Given the description of an element on the screen output the (x, y) to click on. 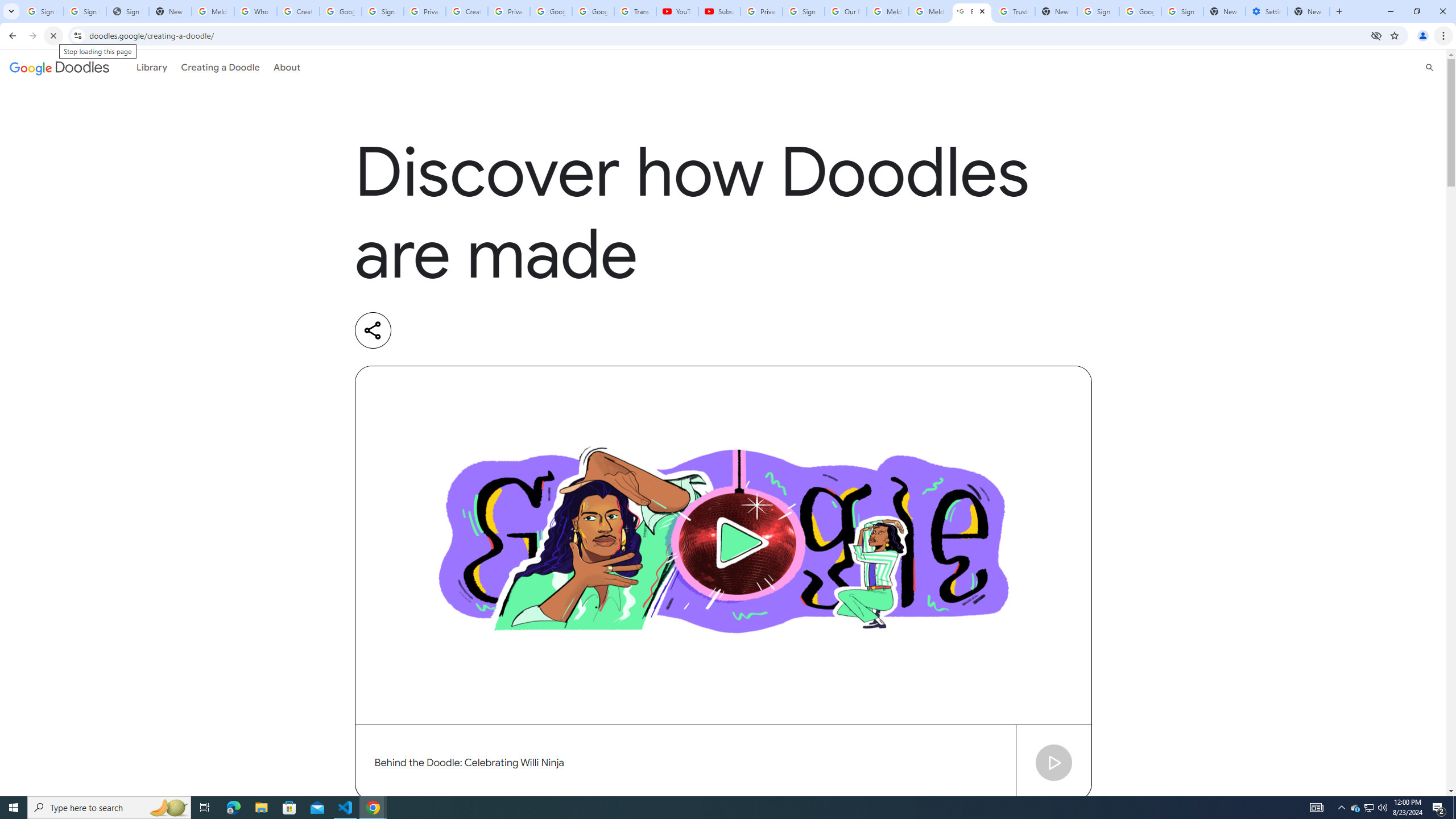
Trusted Information and Content - Google Safety Center (1013, 11)
Create your Google Account (298, 11)
Sign in - Google Accounts (382, 11)
Sign in - Google Accounts (1182, 11)
Sign in - Google Accounts (85, 11)
